Given the description of an element on the screen output the (x, y) to click on. 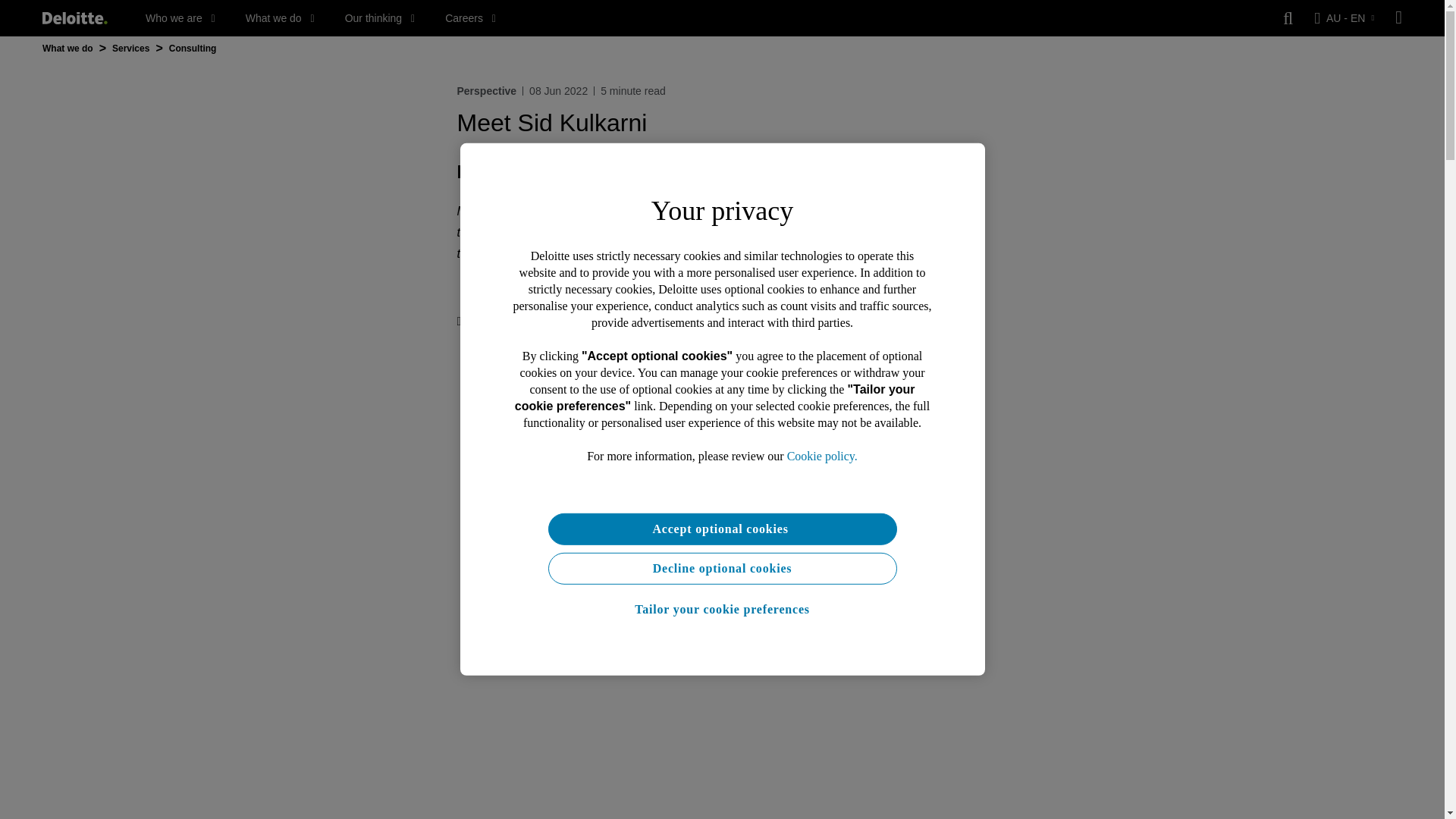
Deloitte (74, 18)
What we do (280, 18)
Who we are (180, 18)
Our thinking (379, 18)
share via email (619, 321)
Print (474, 321)
share via facebook (588, 321)
share via twitter (528, 321)
share via linkedin (558, 321)
Careers (470, 18)
